Given the description of an element on the screen output the (x, y) to click on. 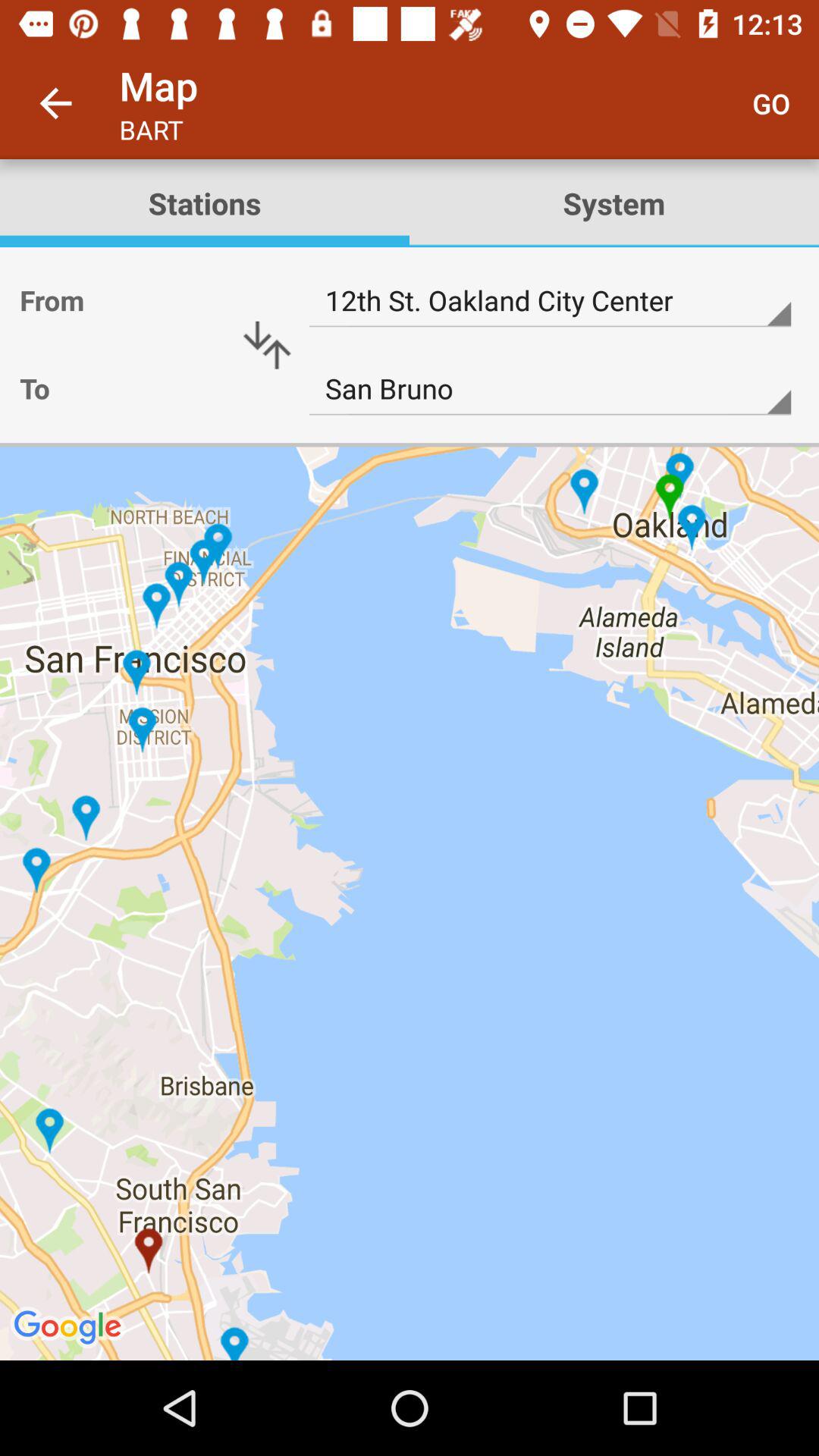
swipe to the system icon (614, 203)
